Given the description of an element on the screen output the (x, y) to click on. 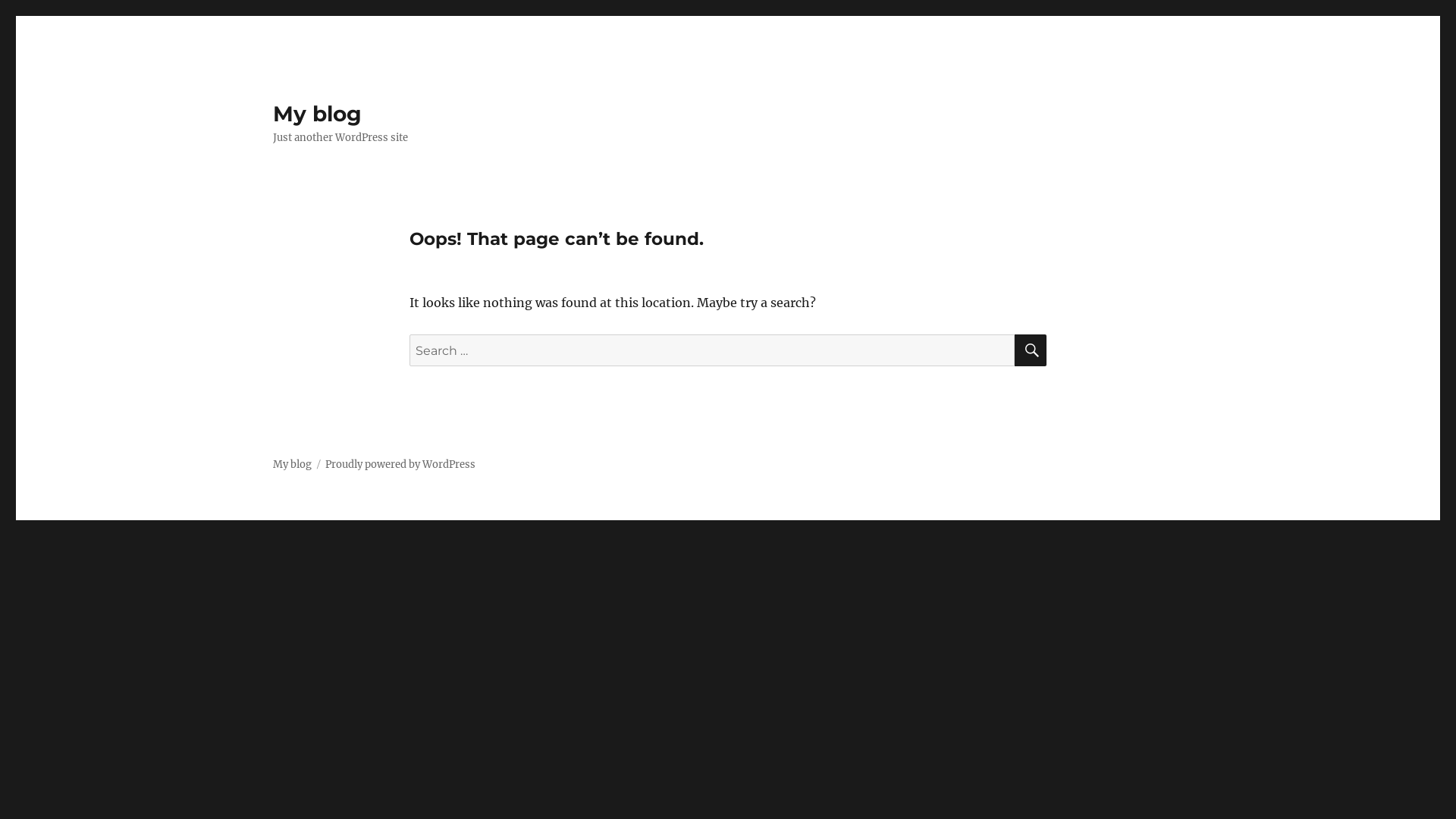
My blog Element type: text (317, 113)
Proudly powered by WordPress Element type: text (400, 464)
My blog Element type: text (292, 464)
SEARCH Element type: text (1030, 350)
